Given the description of an element on the screen output the (x, y) to click on. 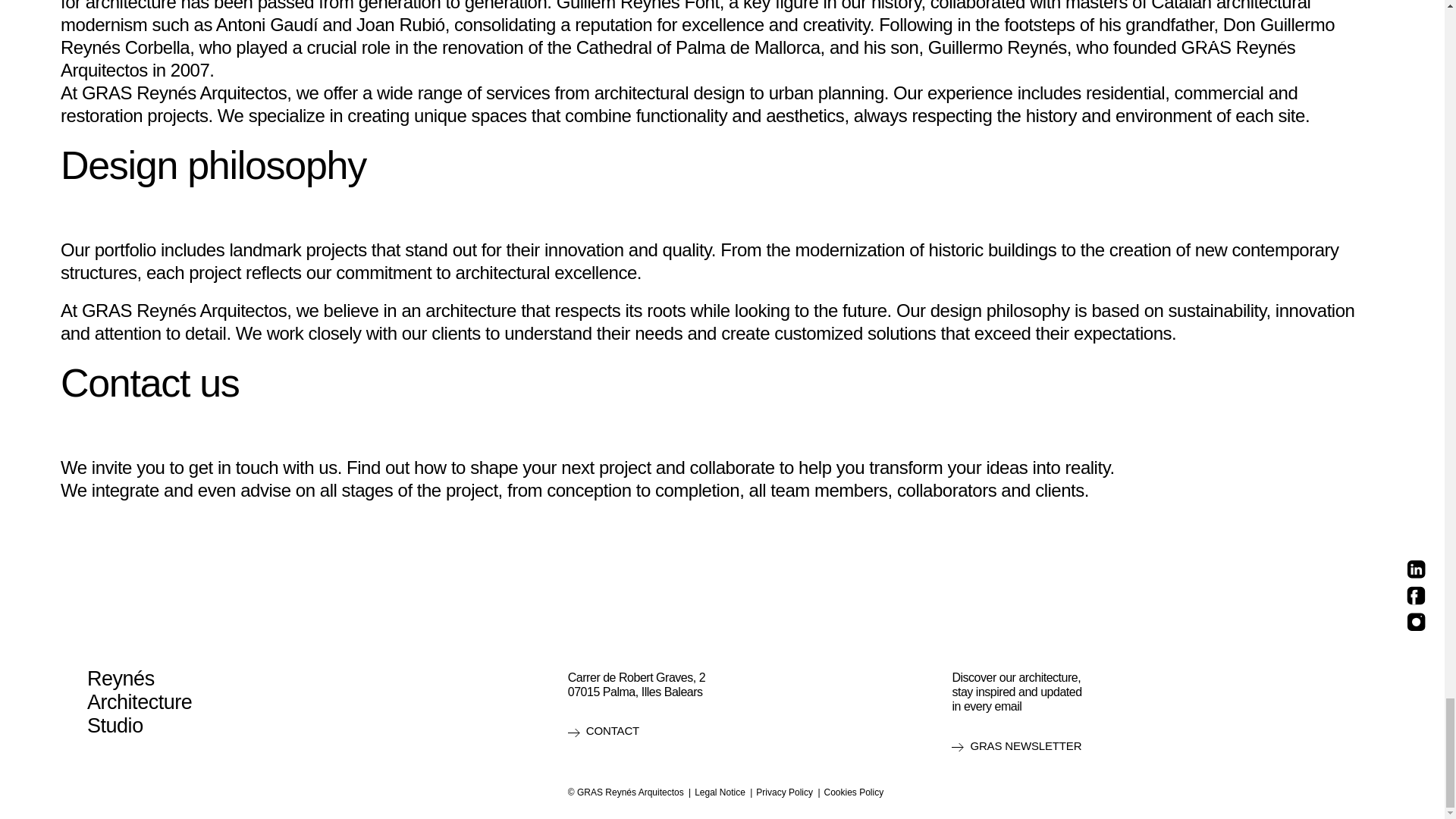
Privacy Policy (783, 792)
CONTACT (603, 730)
Legal Notice (719, 792)
GRAS NEWSLETTER (1016, 745)
Cookies Policy (853, 792)
